Given the description of an element on the screen output the (x, y) to click on. 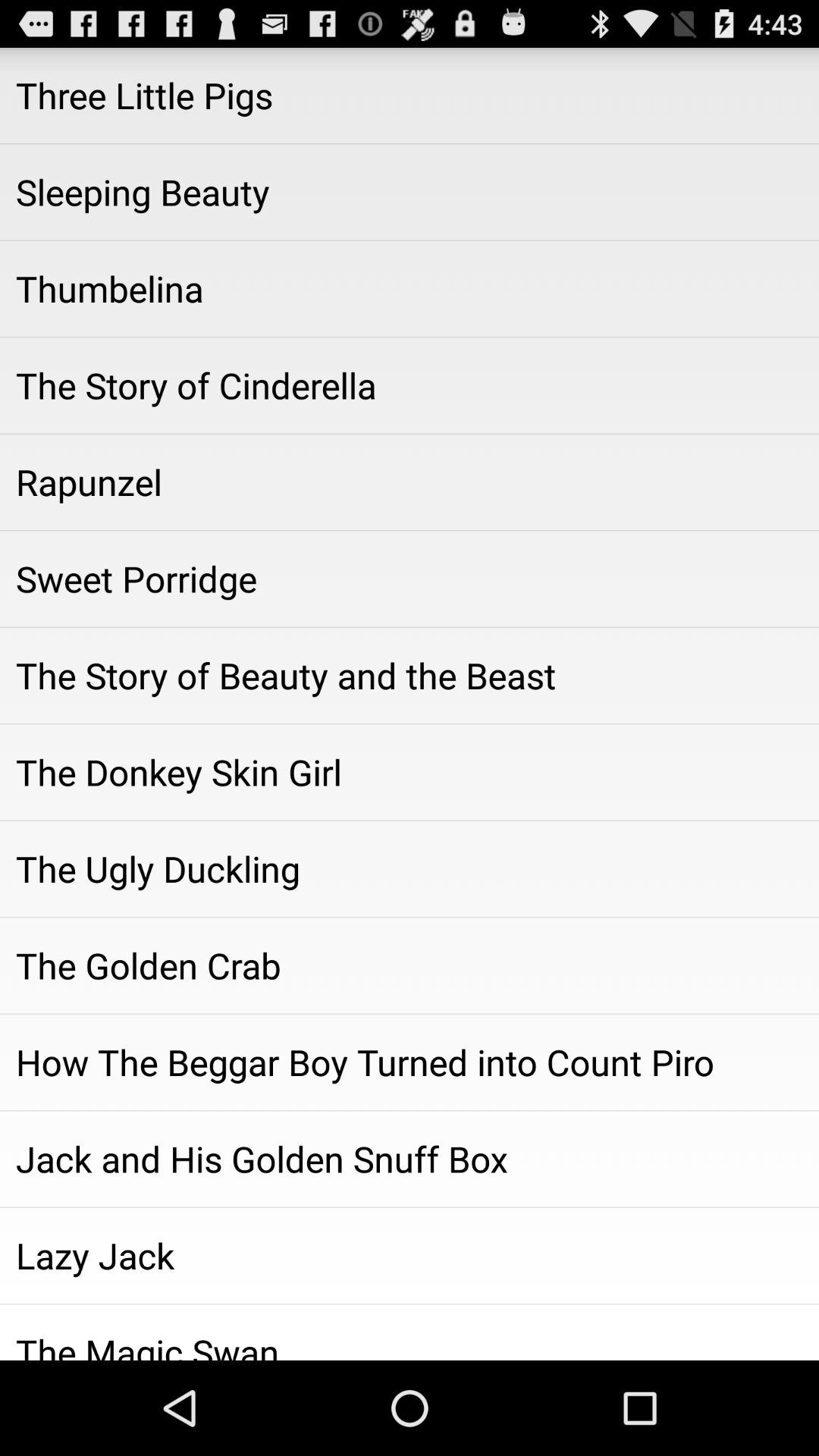
open item below rapunzel item (409, 578)
